Given the description of an element on the screen output the (x, y) to click on. 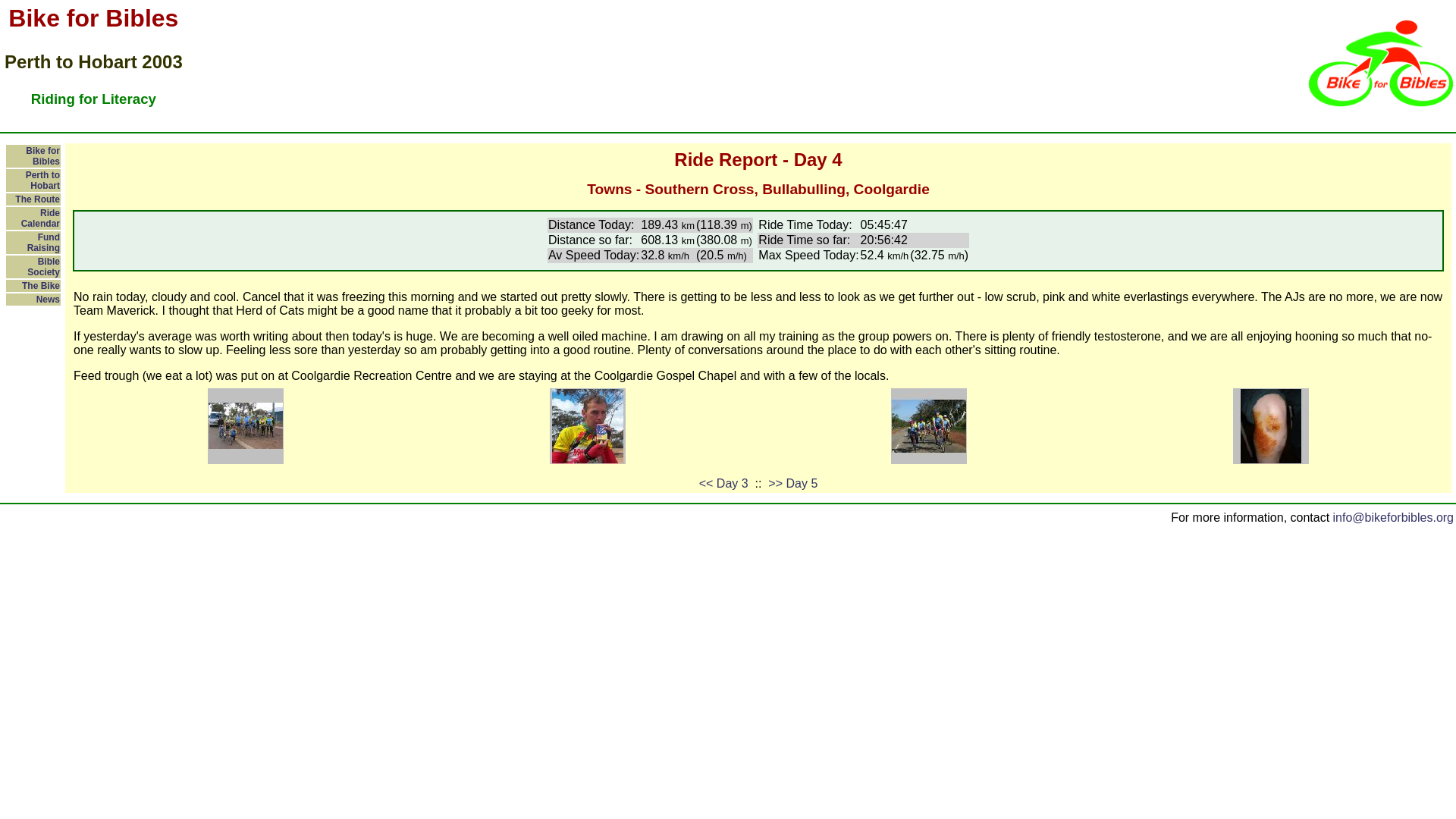
The Route (36, 199)
Perth to Hobart (42, 179)
Ride Calendar (40, 218)
News (47, 299)
The Bike (40, 285)
Bible Society (43, 266)
Bike for Bibles (42, 156)
Fund Raising (43, 242)
